Given the description of an element on the screen output the (x, y) to click on. 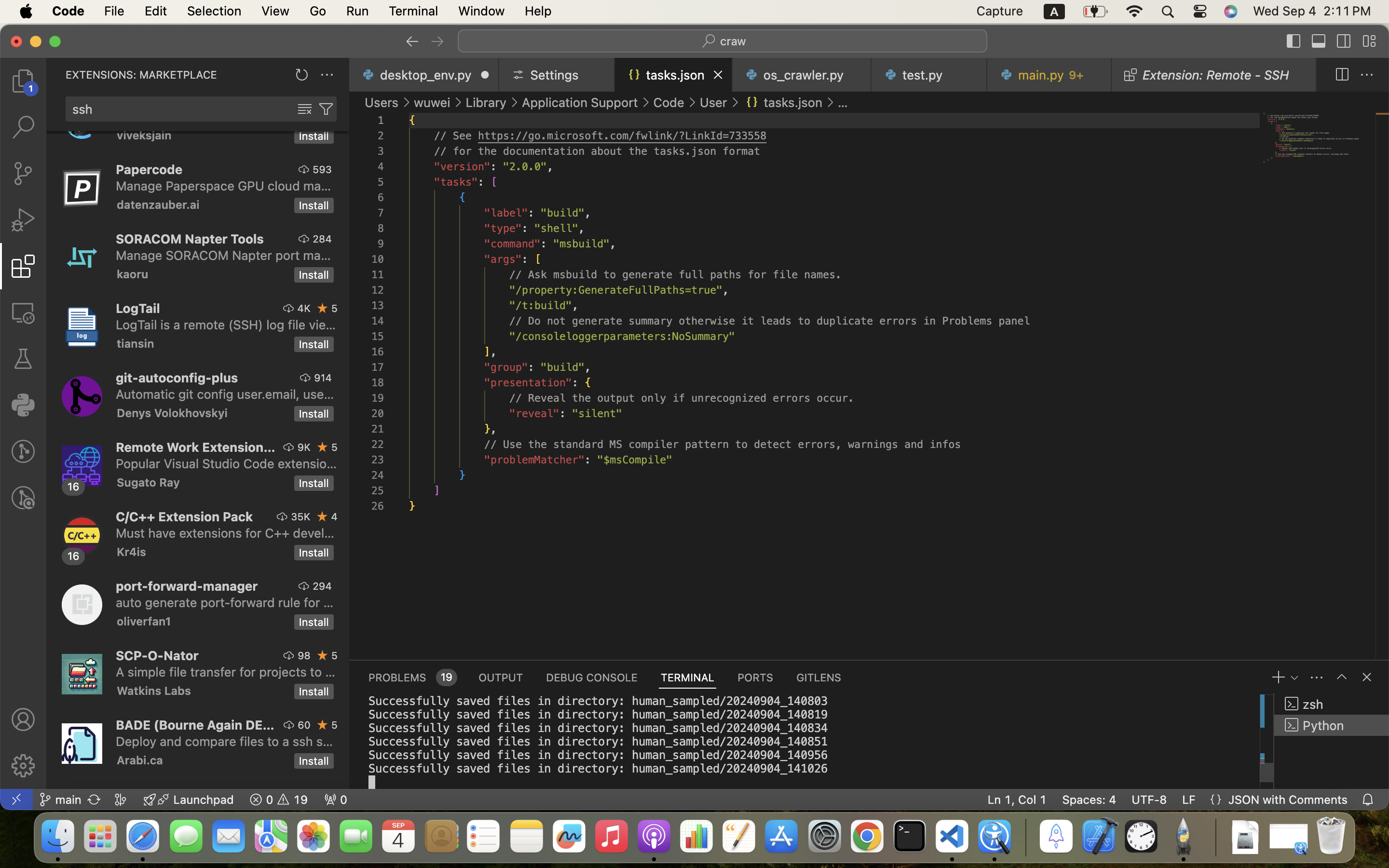
0 PORTS Element type: AXRadioButton (755, 676)
 Element type: AXCheckBox (1318, 41)
oliverfan1 Element type: AXStaticText (143, 620)
1  Element type: AXRadioButton (23, 266)
datenzauber.ai Element type: AXStaticText (157, 204)
